Given the description of an element on the screen output the (x, y) to click on. 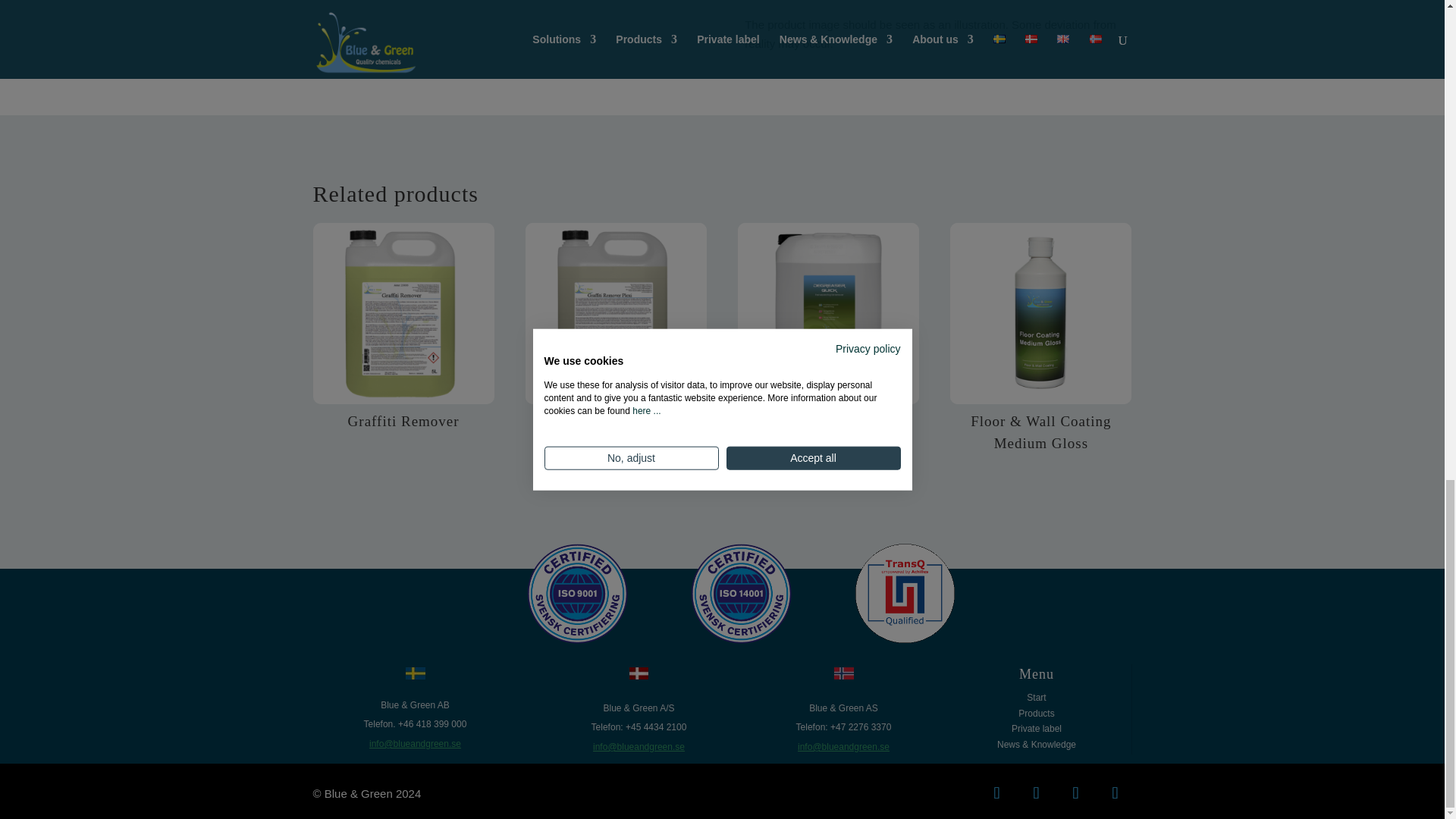
Trans-Q-circle (904, 593)
Follow on LinkedIn (1035, 792)
Follow on Instagram (1114, 792)
Follow on Facebook (996, 792)
Follow on Youtube (1075, 792)
